Given the description of an element on the screen output the (x, y) to click on. 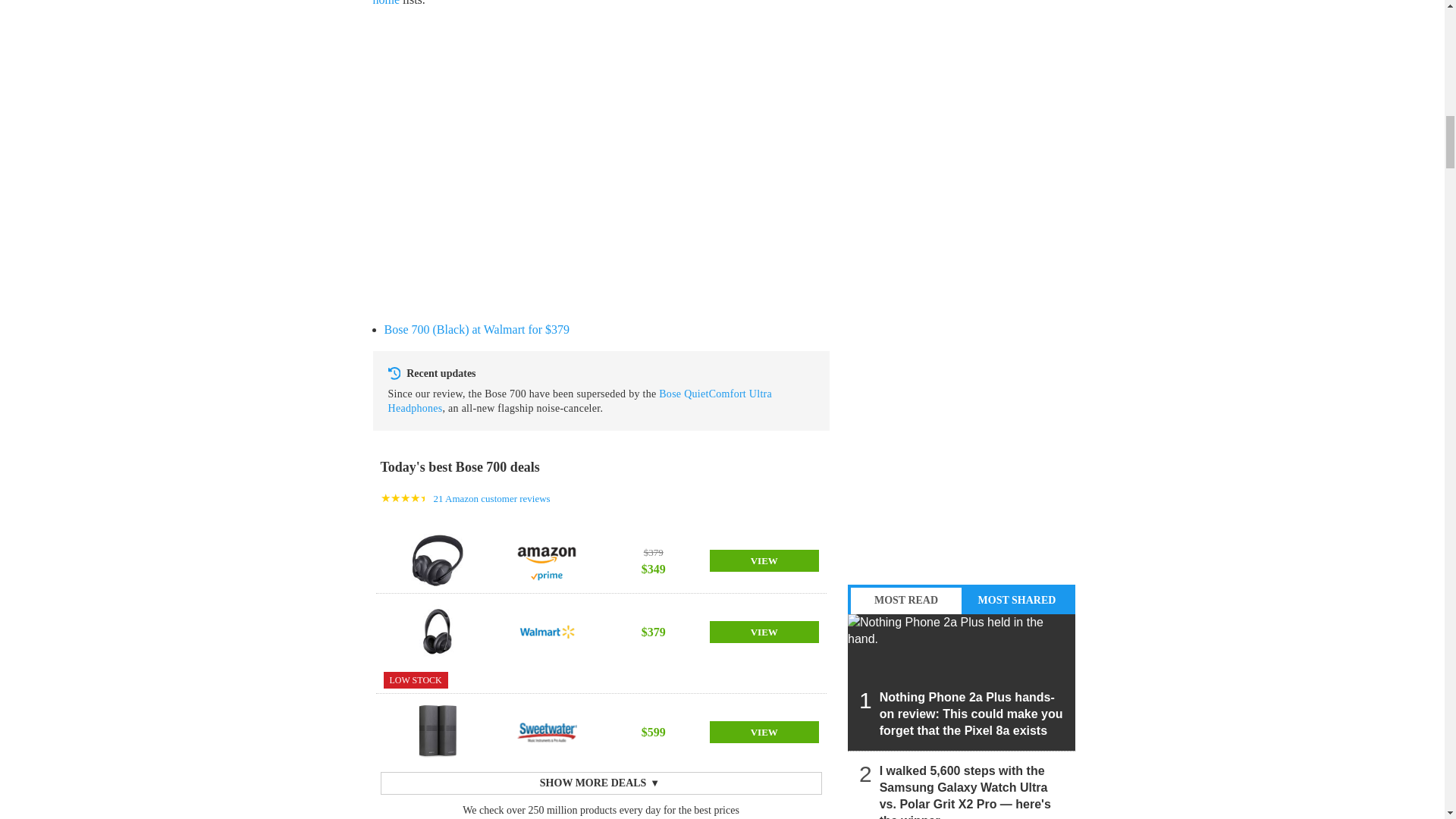
Low Stock (416, 679)
Walmart (546, 631)
Bose Noise Cancelling... (437, 631)
Prime (546, 575)
Amazon (546, 552)
Sweetwater Sound (546, 731)
Bose Headphones 700, Noise... (437, 560)
Bose Surround Speakers 700 -... (437, 731)
